Given the description of an element on the screen output the (x, y) to click on. 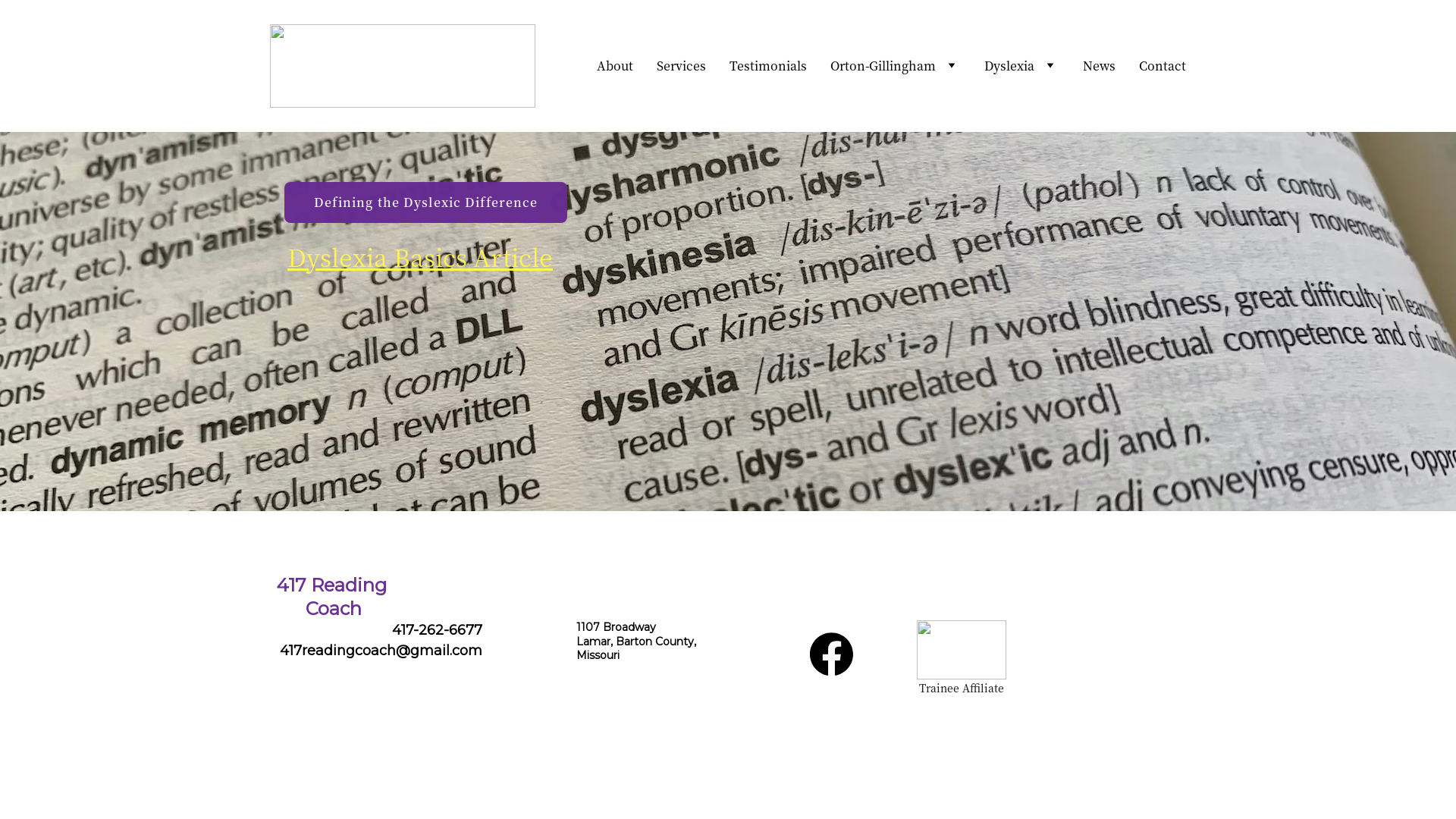
Defining the Dyslexic Difference Element type: text (425, 202)
Services Element type: text (681, 65)
Orton-Gillingham Element type: text (882, 65)
About Element type: text (614, 65)
Testimonials Element type: text (767, 65)
Go to Facebook page Element type: hover (831, 653)
Dyslexia Basics Article Element type: text (419, 255)
Contact Element type: text (1162, 65)
Dyslexia Element type: text (1009, 65)
News Element type: text (1098, 65)
